Given the description of an element on the screen output the (x, y) to click on. 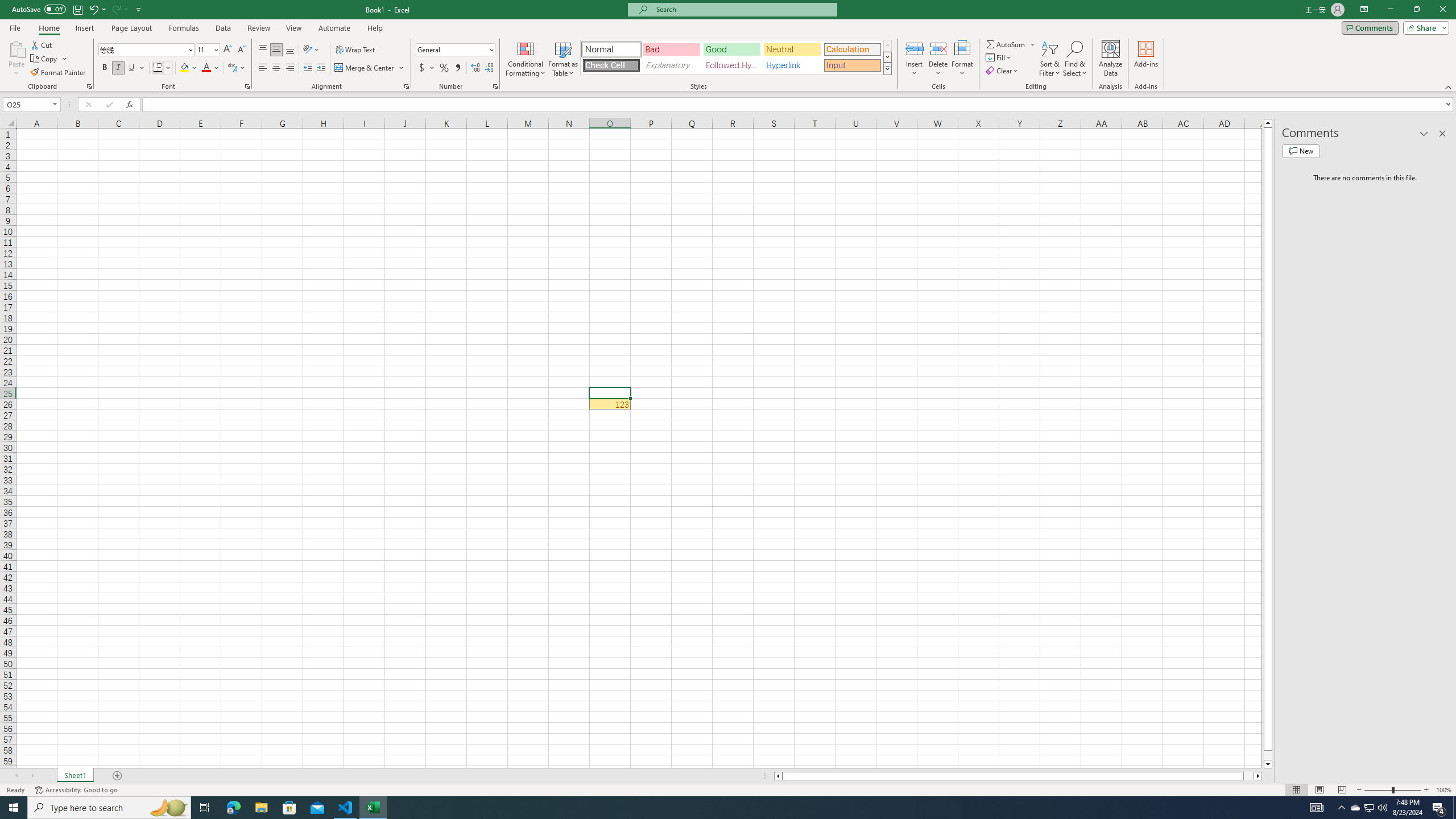
Format as Table (563, 58)
Orientation (311, 49)
Underline (136, 67)
Format Painter (58, 72)
Underline (131, 67)
Italic (118, 67)
Paste (16, 58)
Copy (45, 58)
